Given the description of an element on the screen output the (x, y) to click on. 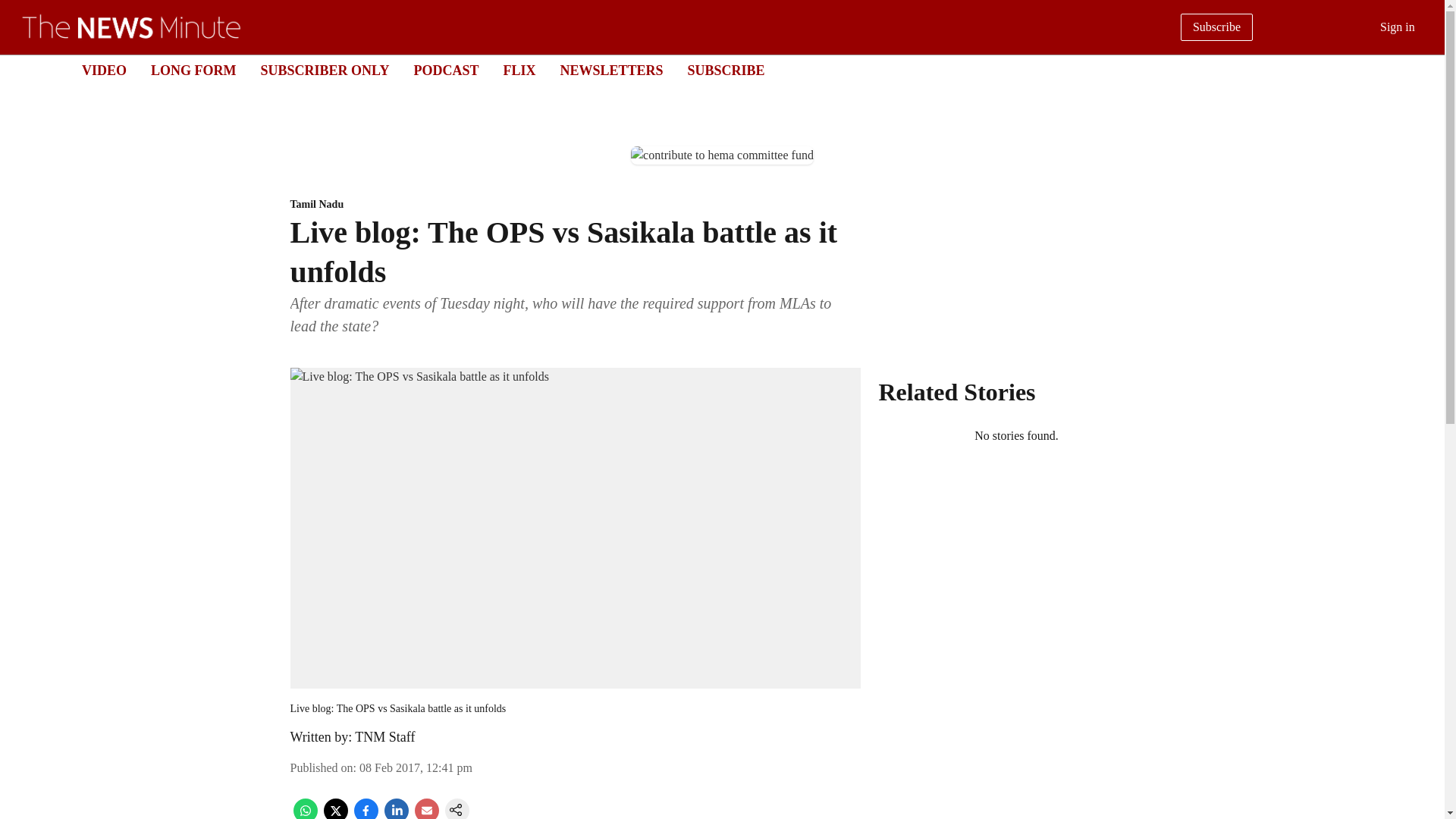
2017-02-08 04:41 (415, 767)
Dark Mode (1415, 70)
NEWSLETTERS (610, 70)
SUBSCRIBE (726, 70)
FLIX (518, 70)
SUBSCRIBER ONLY (325, 70)
PODCAST (446, 70)
LONG FORM (193, 70)
TNM Staff (384, 736)
